Given the description of an element on the screen output the (x, y) to click on. 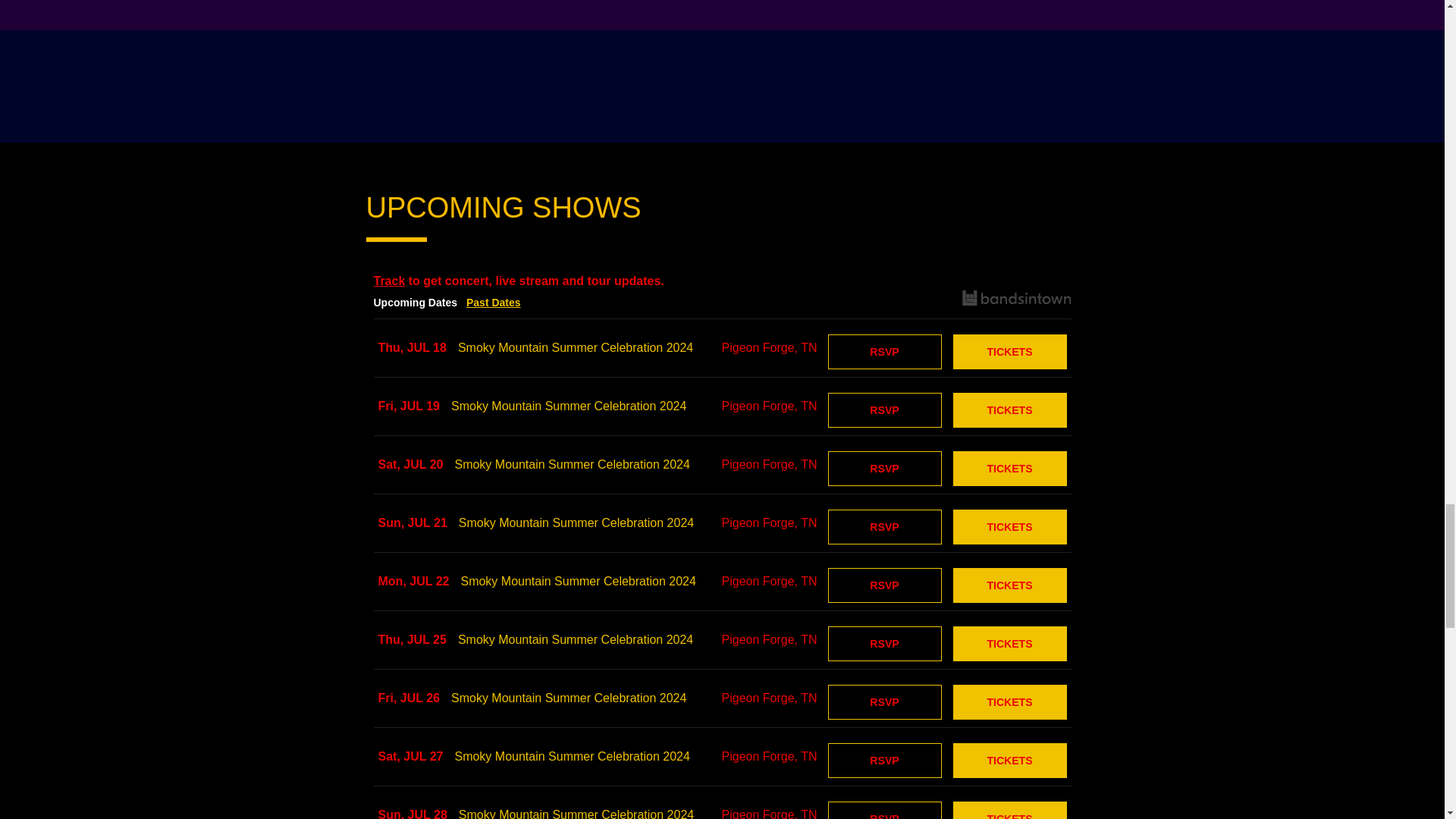
BandsintownBandsintown Fist Logo (1015, 297)
RSVP (885, 410)
BandsintownBandsintown Fist Logo (1015, 300)
TICKETS (1008, 410)
Track to get concert, live stream and tour updates. (721, 279)
RSVP (885, 351)
TICKETS (1008, 351)
